Given the description of an element on the screen output the (x, y) to click on. 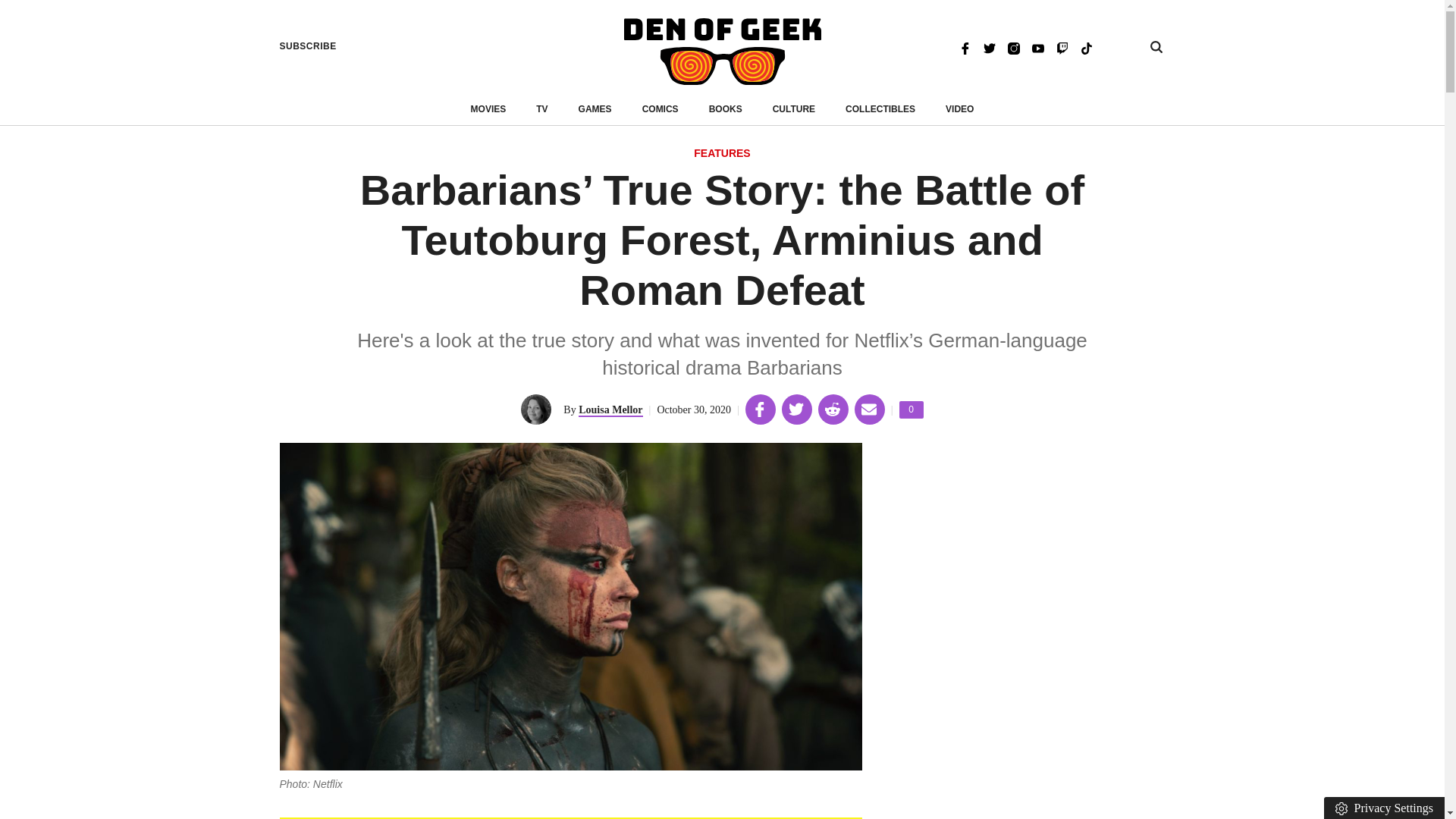
Instagram (1013, 46)
CULTURE (794, 109)
TikTok (1085, 46)
Twitch (1061, 46)
BOOKS (725, 109)
GAMES (594, 109)
Den of Geek (722, 52)
COLLECTIBLES (880, 109)
Twitter (911, 409)
